Given the description of an element on the screen output the (x, y) to click on. 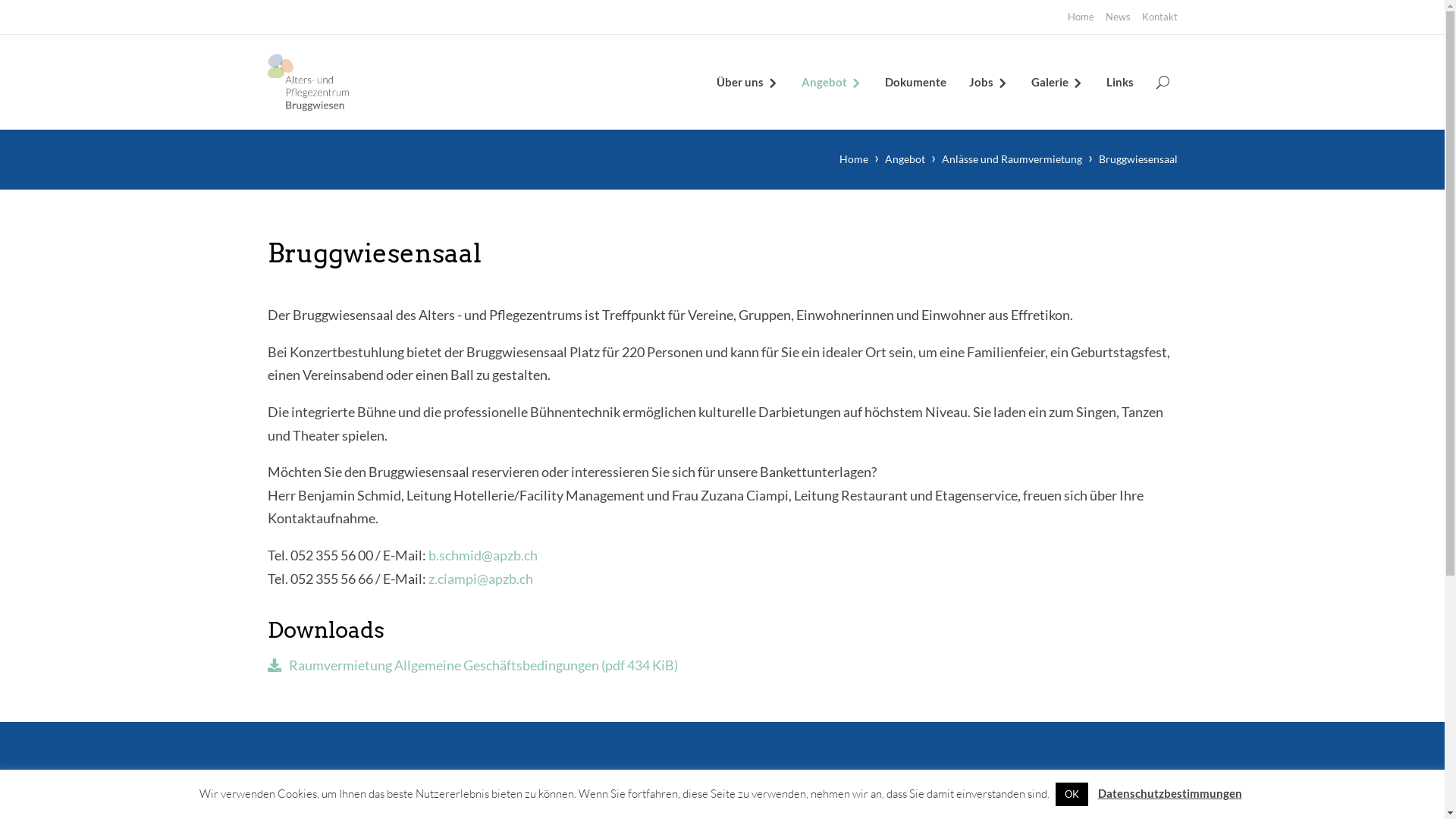
Angebot Element type: text (830, 82)
Home Element type: text (1080, 16)
b.schmid@apzb.ch Element type: text (481, 554)
OK Element type: text (1071, 794)
z.ciampi@apzb.ch Element type: text (479, 578)
News Element type: text (1117, 16)
Home Element type: text (852, 158)
Kontakt Element type: text (1159, 16)
Angebot Element type: text (904, 158)
Dokumente Element type: text (914, 82)
Jobs Element type: text (988, 82)
Galerie Element type: text (1057, 82)
Links Element type: text (1118, 82)
Datenschutzbestimmungen Element type: text (1170, 793)
